Given the description of an element on the screen output the (x, y) to click on. 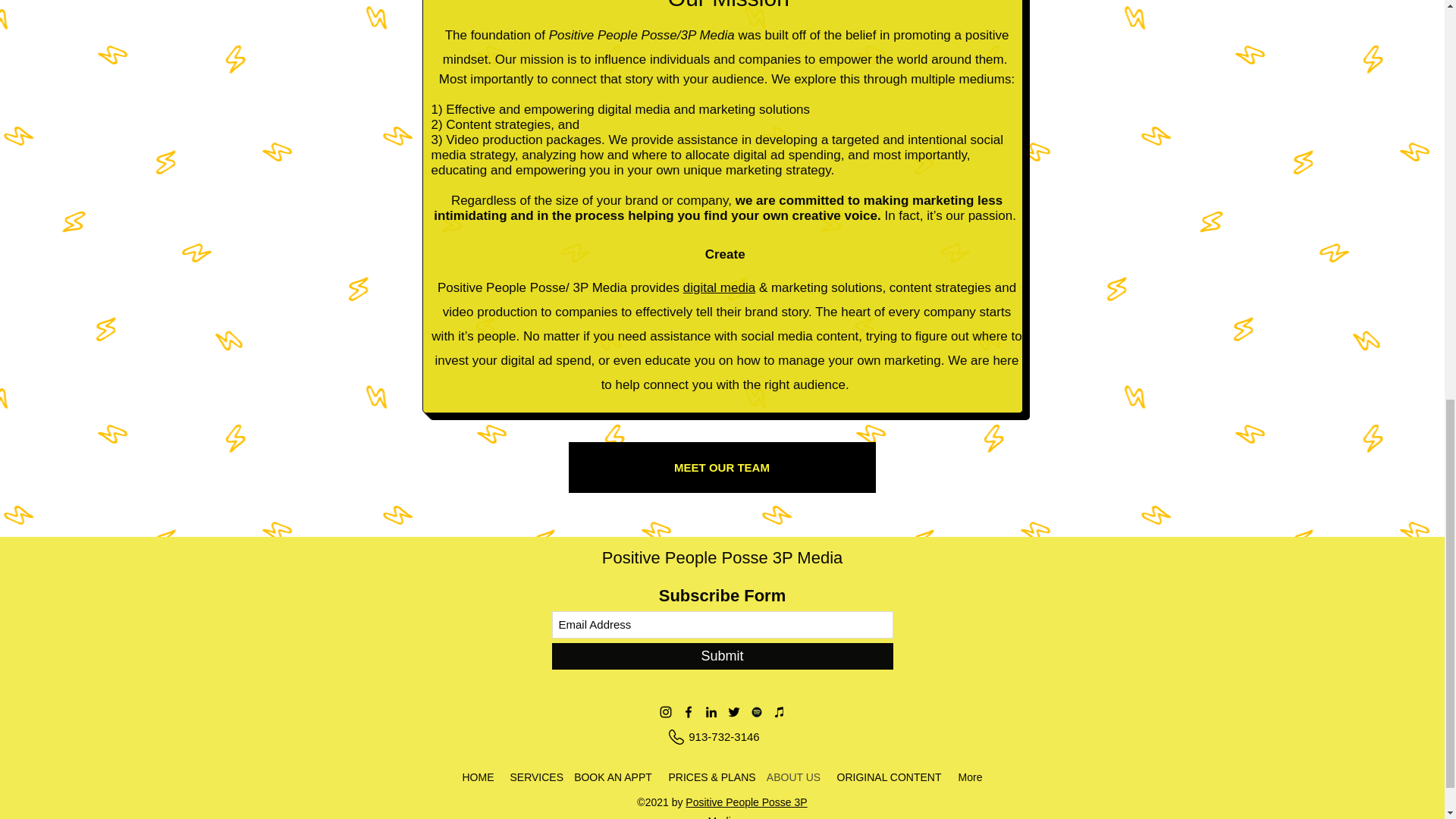
BOOK AN APPT (613, 777)
ORIGINAL CONTENT (888, 777)
MEET OUR TEAM (722, 467)
HOME (477, 777)
Submit (722, 655)
Positive People Posse 3P Media (722, 557)
digital media (718, 287)
SERVICES (533, 777)
ABOUT US (793, 777)
